Given the description of an element on the screen output the (x, y) to click on. 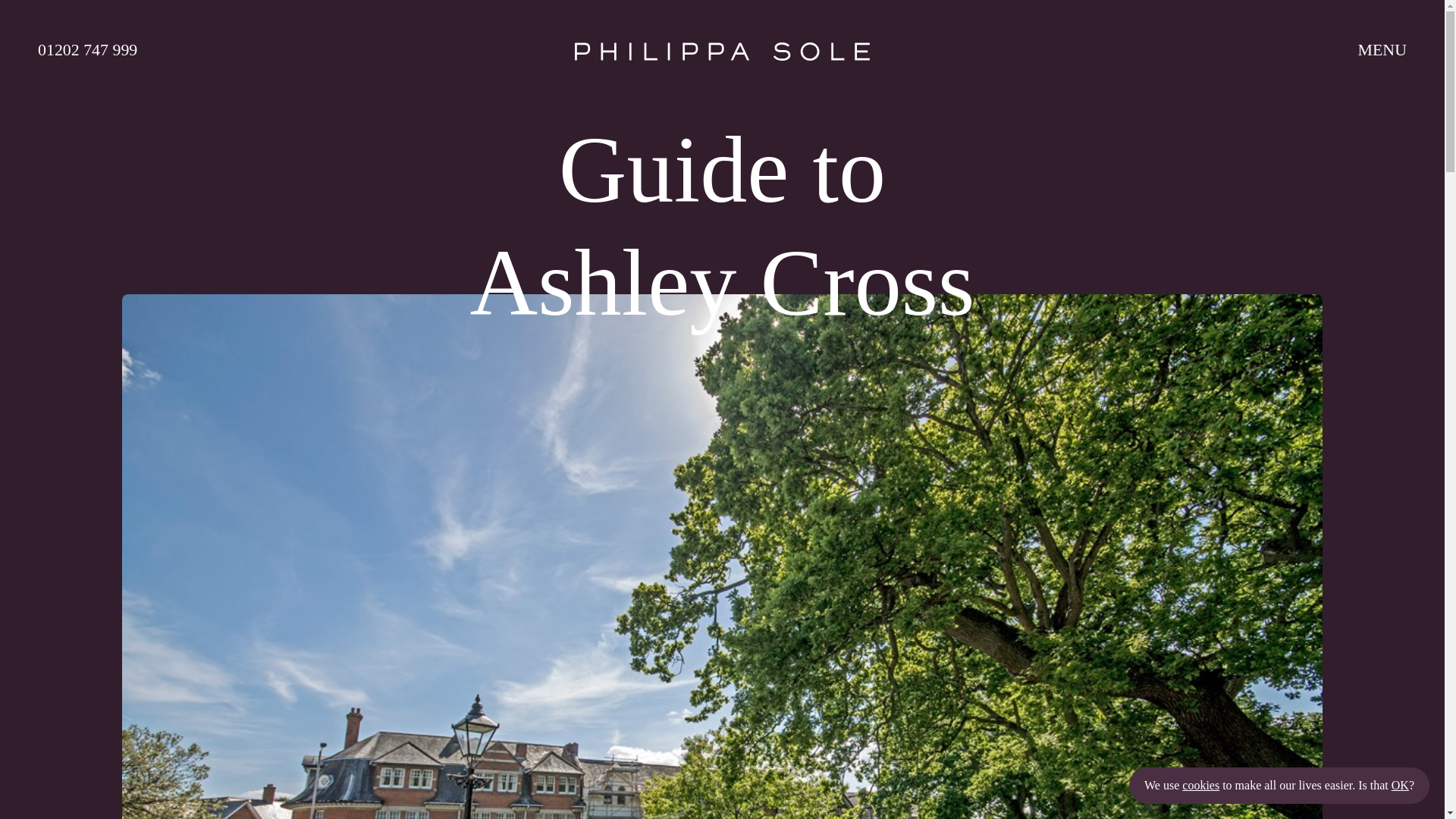
cookies (1201, 784)
Accept Cookies (1400, 784)
01202 747 999 (258, 50)
OK (1400, 784)
